Given the description of an element on the screen output the (x, y) to click on. 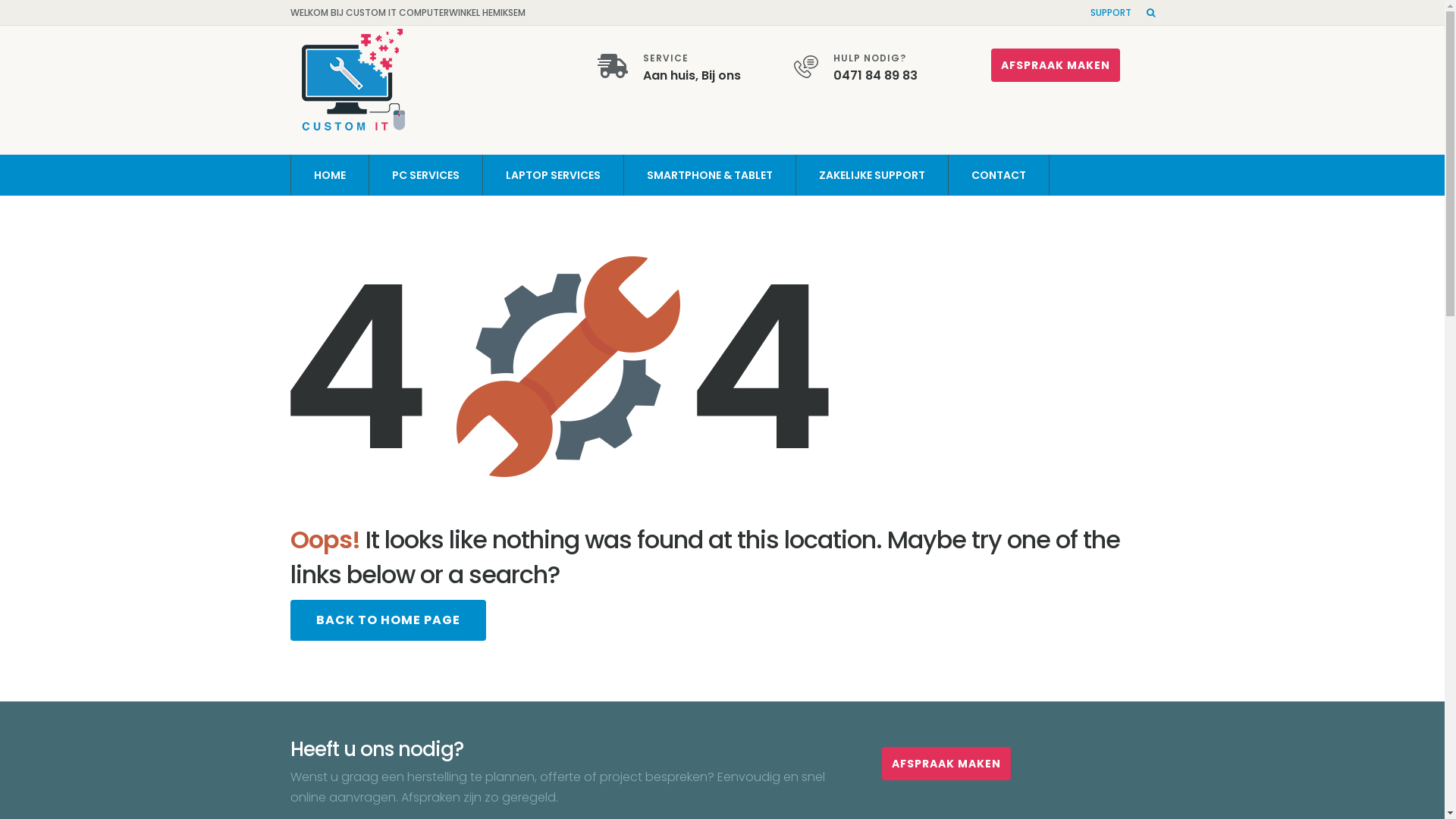
ZAKELIJKE SUPPORT Element type: text (870, 174)
CONTACT Element type: text (998, 174)
AFSPRAAK MAKEN Element type: text (945, 763)
AFSPRAAK MAKEN Element type: text (1055, 64)
HOME Element type: text (328, 174)
PC SERVICES Element type: text (425, 174)
BACK TO HOME PAGE Element type: text (387, 619)
SUPPORT Element type: text (1110, 12)
SMARTPHONE & TABLET Element type: text (709, 174)
LAPTOP SERVICES Element type: text (553, 174)
